Given the description of an element on the screen output the (x, y) to click on. 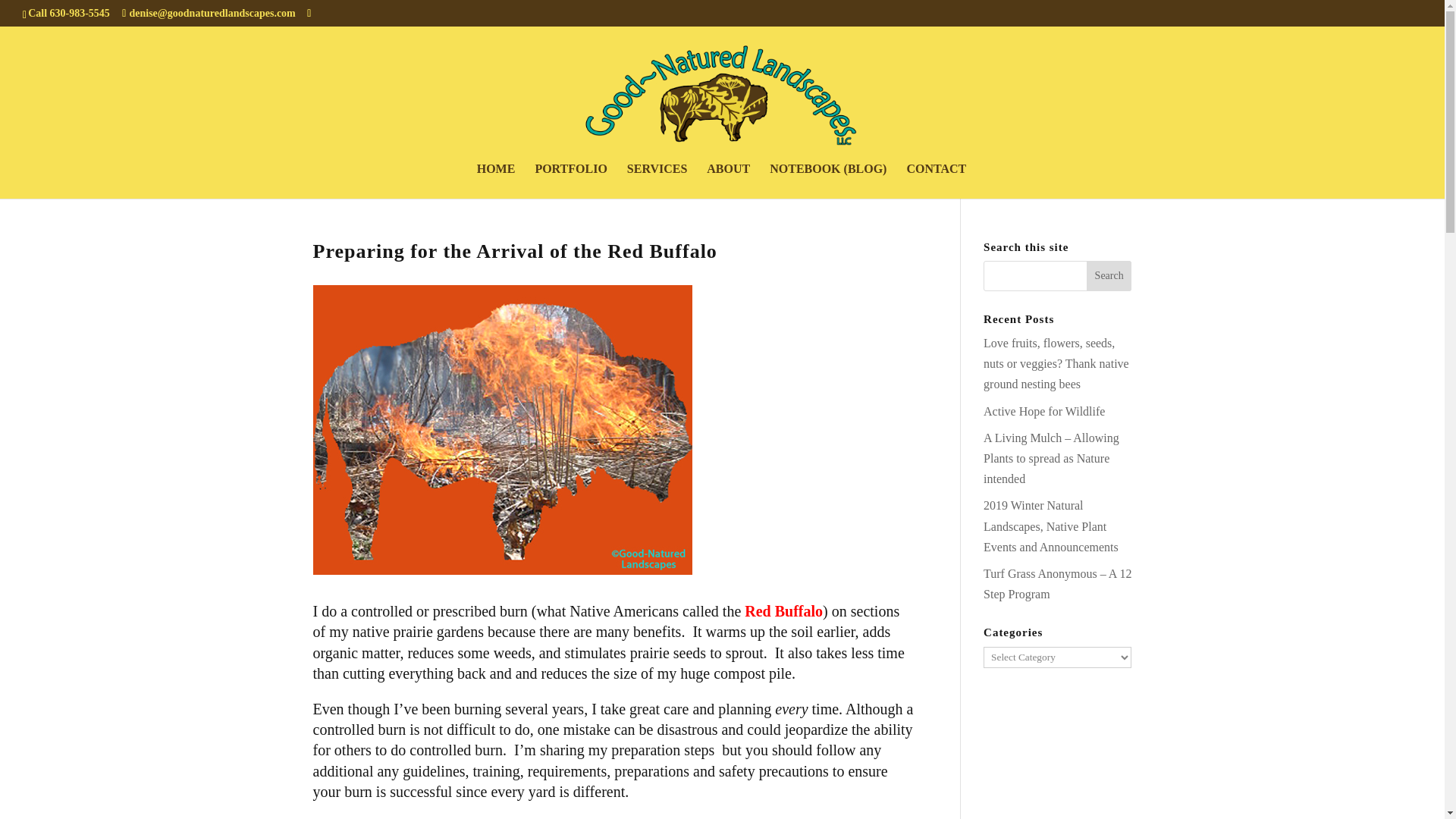
Search (1109, 276)
Search (1109, 276)
Active Hope for Wildlife (1044, 410)
CONTACT (935, 181)
Call 630-983-5545 (68, 12)
PORTFOLIO (570, 181)
SERVICES (657, 181)
ABOUT (727, 181)
HOME (496, 181)
